Given the description of an element on the screen output the (x, y) to click on. 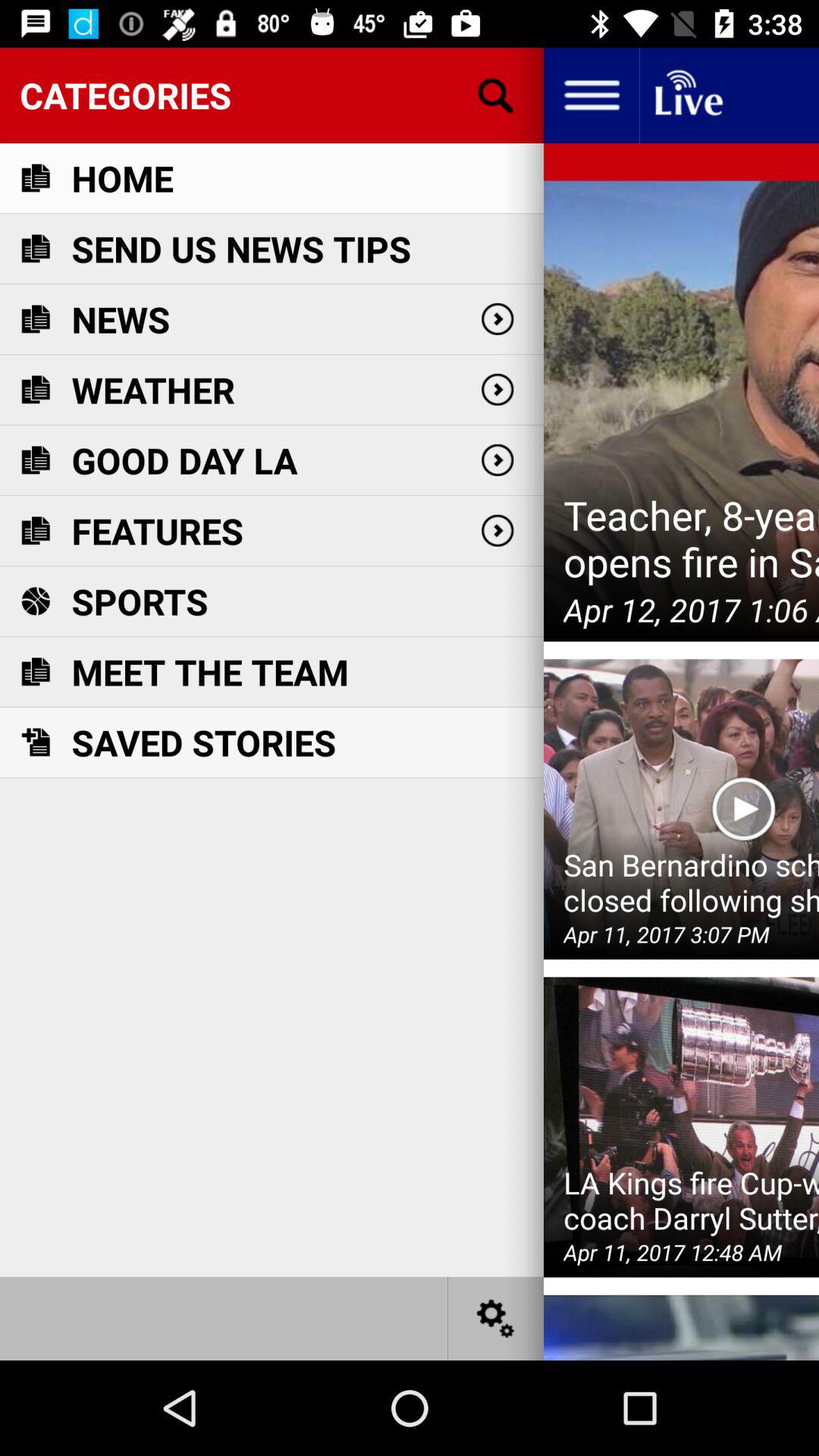
press the item to the right of home item (495, 95)
